Given the description of an element on the screen output the (x, y) to click on. 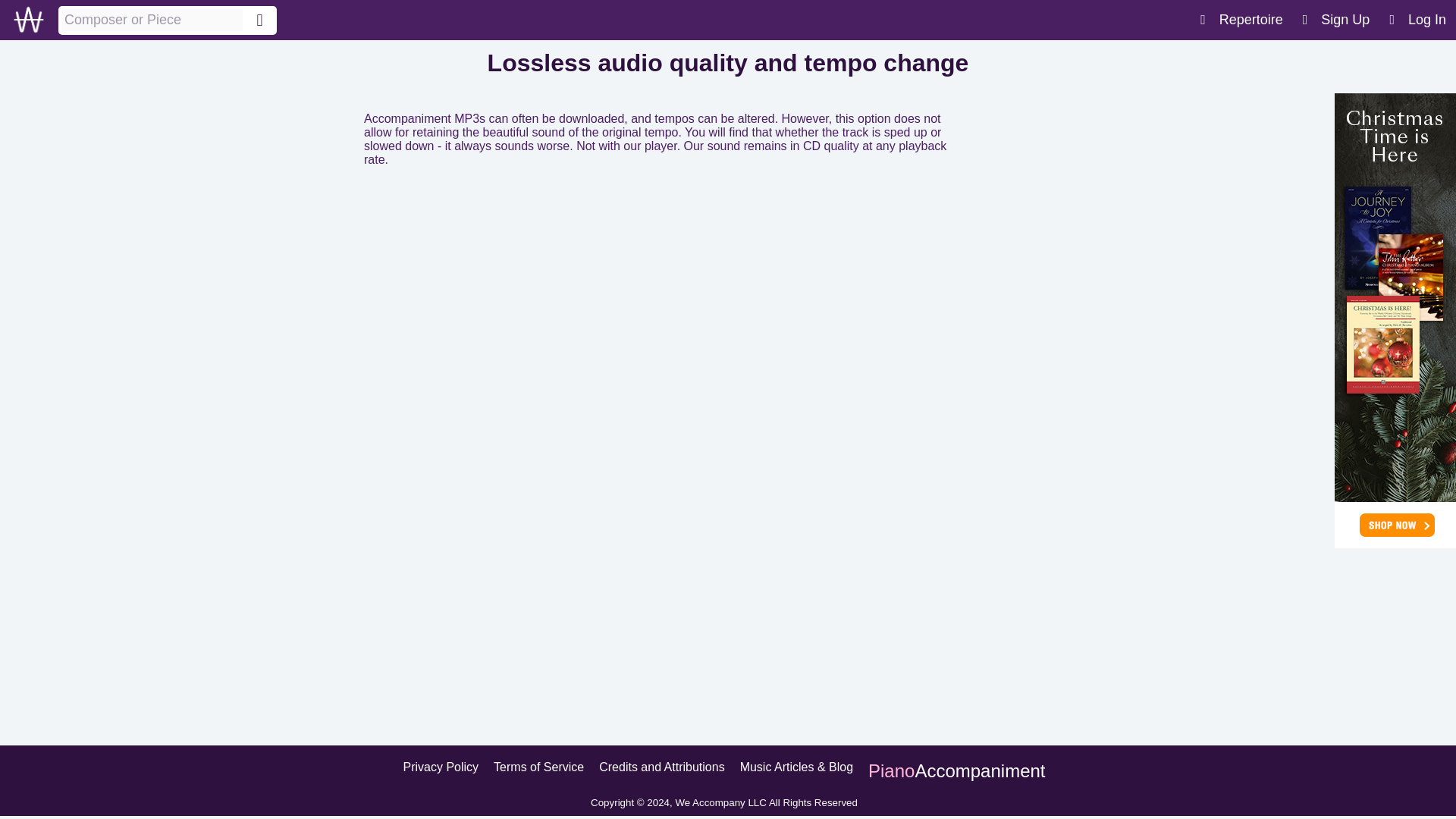
Sign Up (1336, 20)
Repertoire (1241, 20)
